Given the description of an element on the screen output the (x, y) to click on. 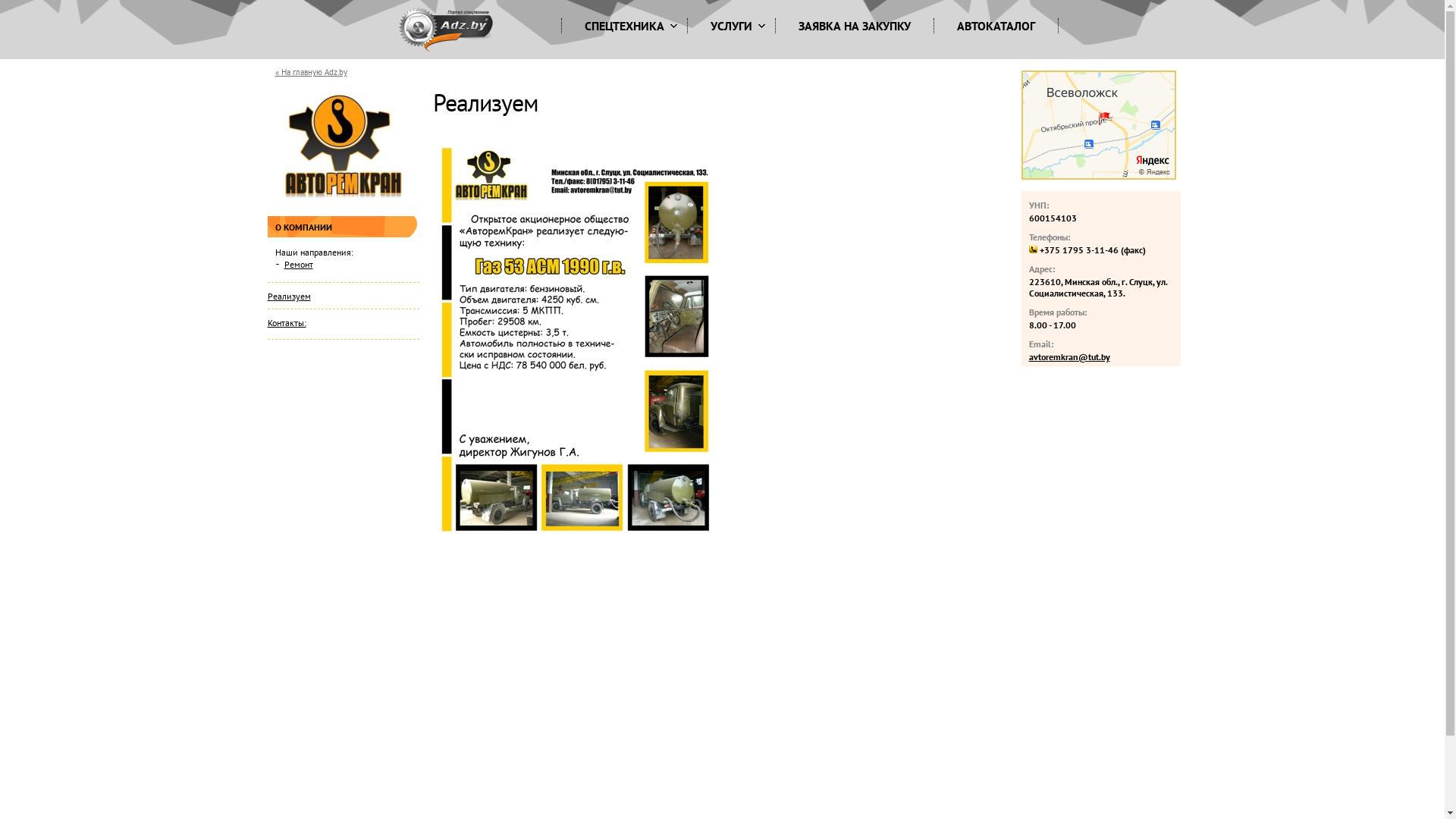
avtoremkran@tut.by Element type: text (1068, 356)
